Given the description of an element on the screen output the (x, y) to click on. 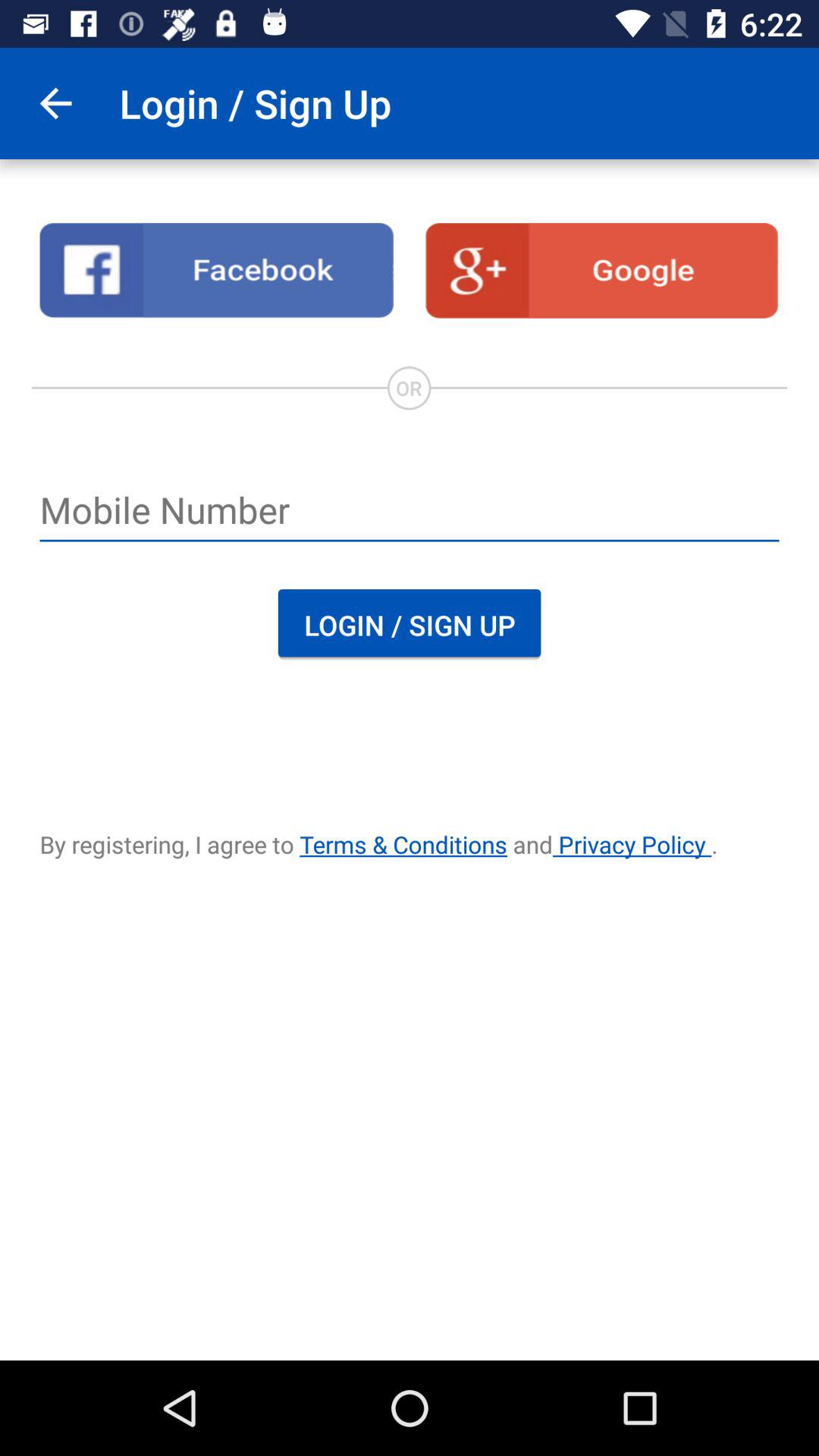
enter mobile number (409, 511)
